Given the description of an element on the screen output the (x, y) to click on. 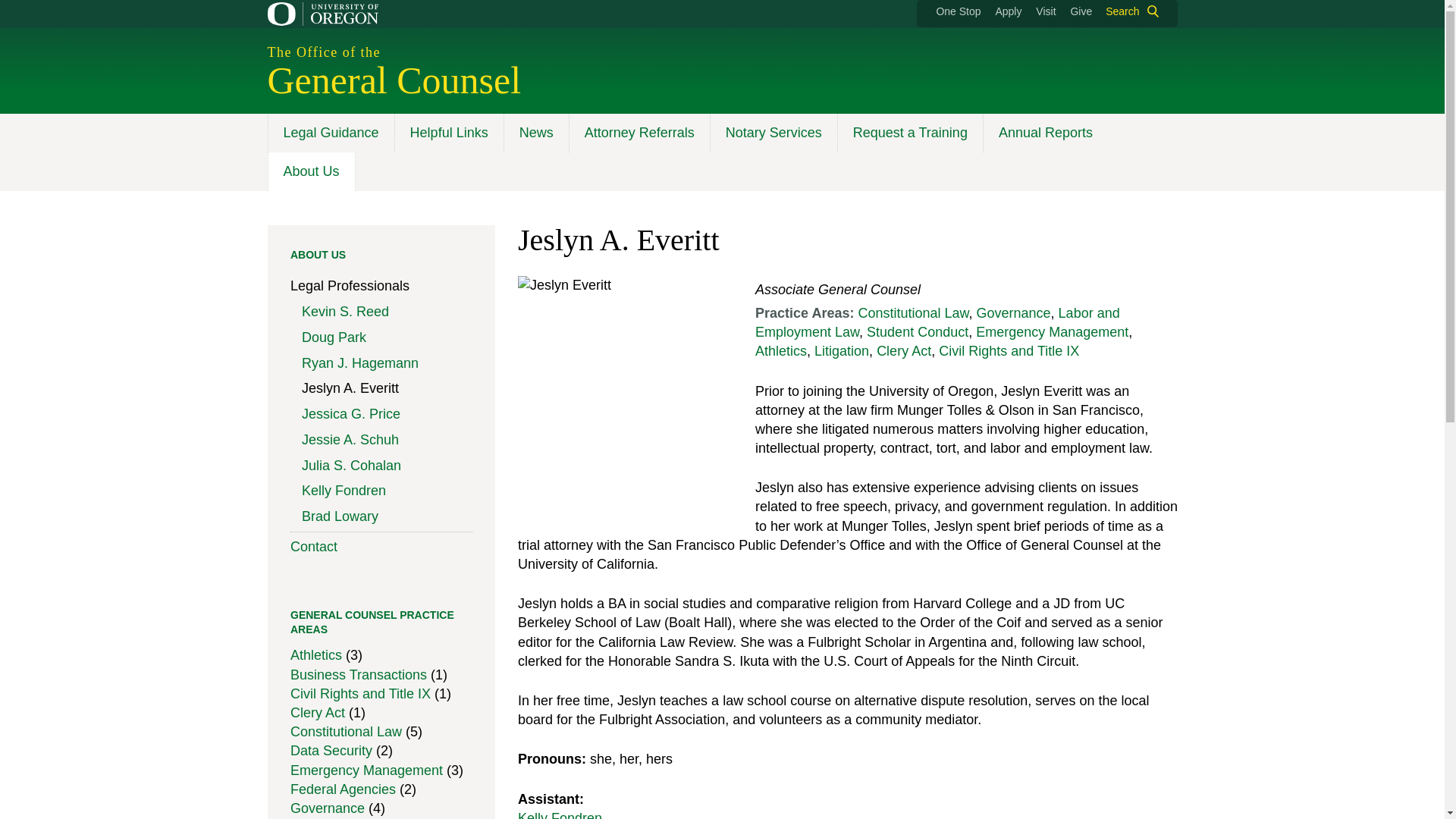
Visit (1045, 10)
Apply (1008, 10)
General CounselHome (393, 79)
Give (1081, 10)
Search (1128, 11)
One Stop (957, 10)
